Given the description of an element on the screen output the (x, y) to click on. 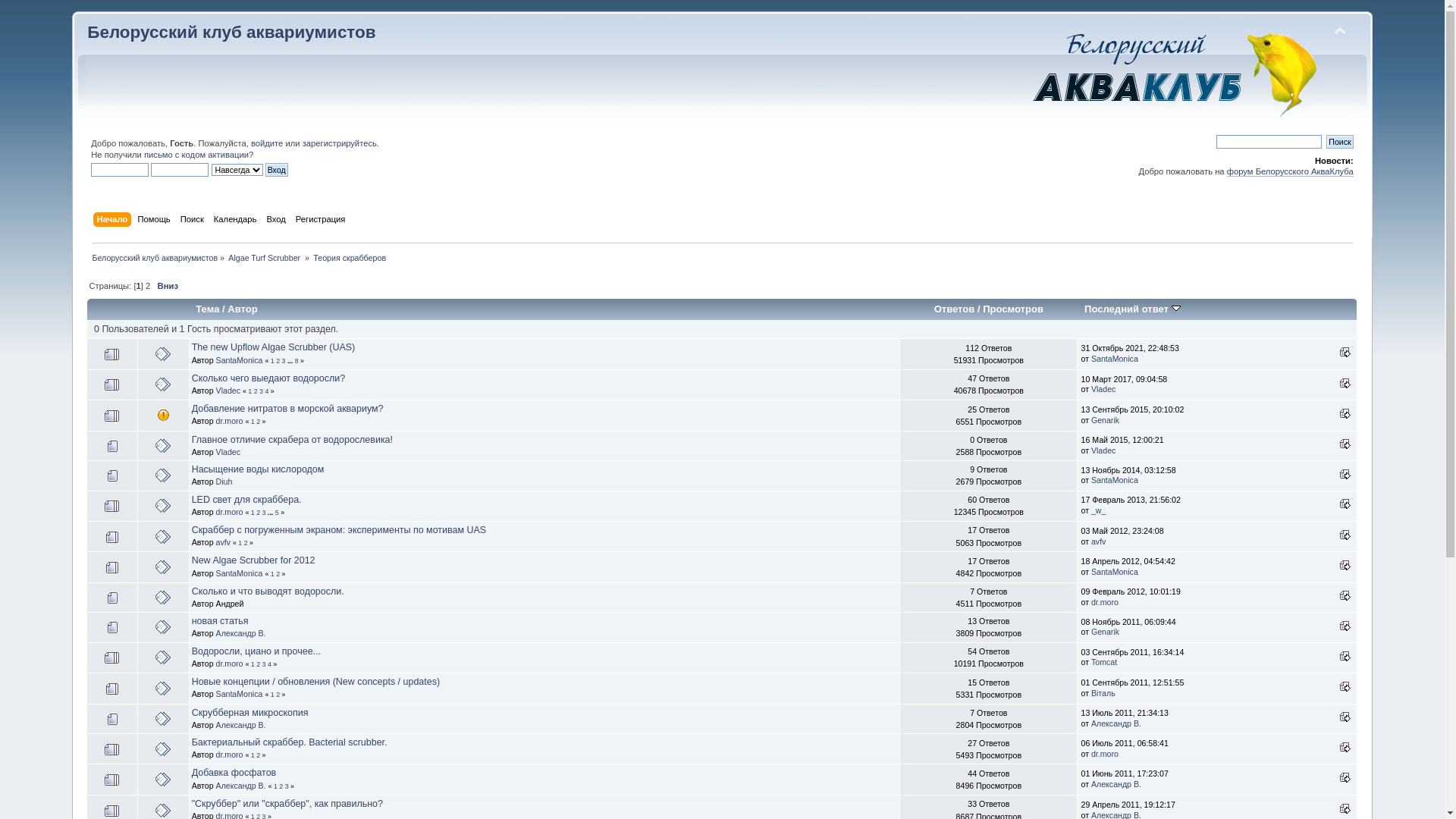
3 Element type: text (261, 391)
1 Element type: text (249, 391)
SantaMonica Element type: text (1114, 479)
_w_ Element type: text (1098, 509)
SantaMonica Element type: text (1114, 358)
The new Upflow Algae Scrubber (UAS) Element type: text (273, 347)
1 Element type: text (252, 755)
4 Element type: text (266, 391)
1 Element type: text (252, 664)
dr.moro Element type: text (229, 511)
Diuh Element type: text (224, 481)
2 Element type: text (277, 694)
Vladec Element type: text (228, 390)
2 Element type: text (258, 512)
2 Element type: text (258, 755)
1 Element type: text (252, 421)
3 Element type: text (283, 360)
8 Element type: text (296, 360)
2 Element type: text (280, 786)
1 Element type: text (272, 360)
Vladec Element type: text (1103, 450)
Vladec Element type: text (228, 451)
... Element type: text (271, 512)
Simple Machines Forum Element type: hover (1174, 71)
SantaMonica Element type: text (239, 572)
1 Element type: text (239, 542)
dr.moro Element type: text (229, 754)
1 Element type: text (272, 573)
dr.moro Element type: text (229, 420)
Genarik Element type: text (1105, 419)
2 Element type: text (277, 360)
dr.moro Element type: text (1104, 601)
2 Element type: text (258, 421)
New Algae Scrubber for 2012 Element type: text (253, 560)
dr.moro Element type: text (1104, 753)
2 Element type: text (147, 285)
1 Element type: text (275, 786)
SantaMonica Element type: text (1114, 571)
5 Element type: text (277, 512)
Vladec Element type: text (1103, 388)
3 Element type: text (264, 512)
1 Element type: text (252, 512)
4 Element type: text (269, 664)
1 Element type: text (272, 694)
SantaMonica Element type: text (239, 359)
Tomcat Element type: text (1104, 661)
3 Element type: text (286, 786)
dr.moro Element type: text (229, 663)
SantaMonica Element type: text (239, 693)
Algae Turf Scrubber  Element type: text (265, 257)
avfv Element type: text (223, 541)
2 Element type: text (258, 664)
2 Element type: text (245, 542)
3 Element type: text (264, 664)
... Element type: text (290, 360)
2 Element type: text (277, 573)
avfv Element type: text (1098, 541)
Genarik Element type: text (1105, 631)
2 Element type: text (255, 391)
